Given the description of an element on the screen output the (x, y) to click on. 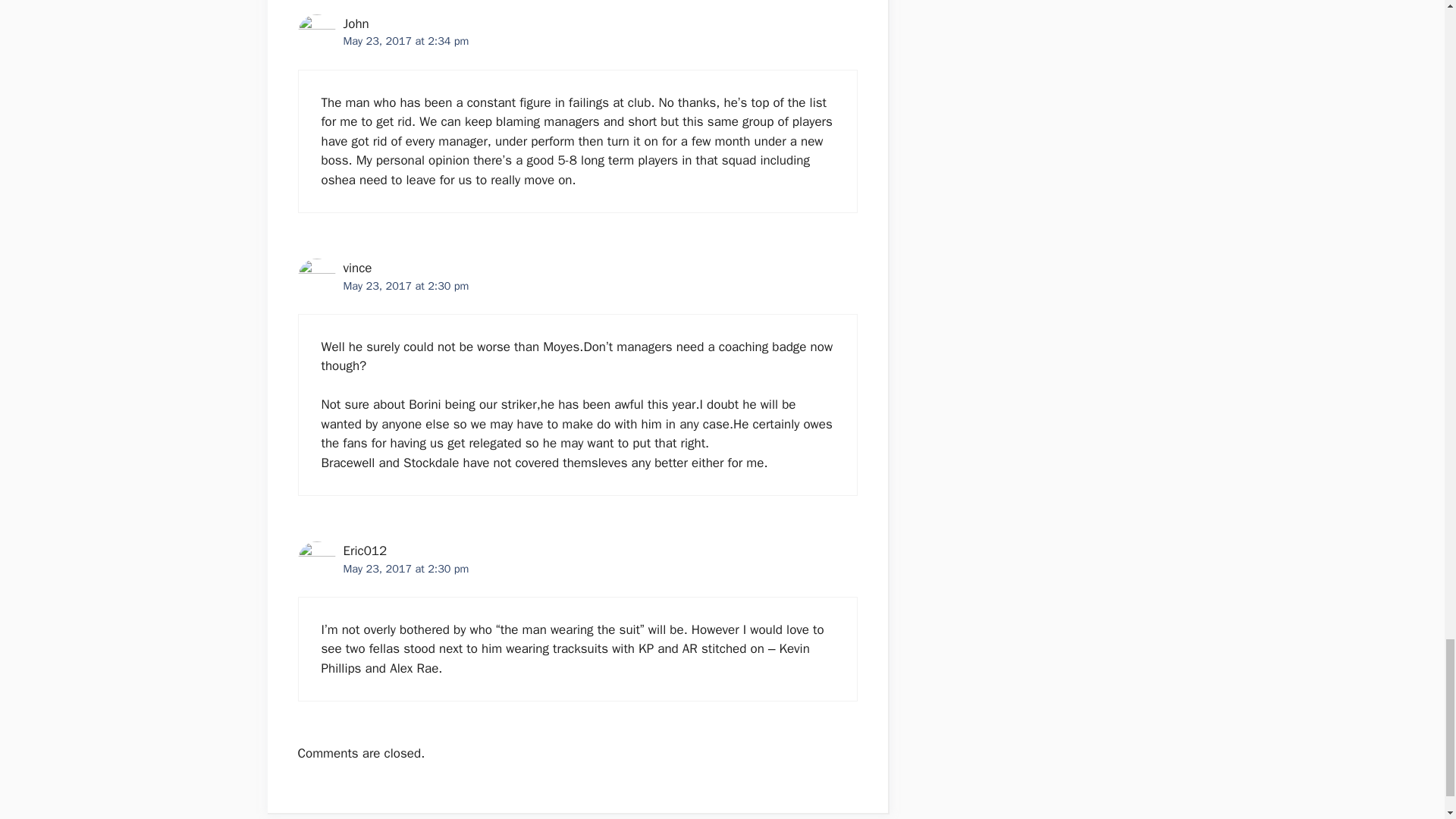
May 23, 2017 at 2:30 pm (405, 285)
May 23, 2017 at 2:34 pm (405, 40)
May 23, 2017 at 2:30 pm (405, 568)
